Given the description of an element on the screen output the (x, y) to click on. 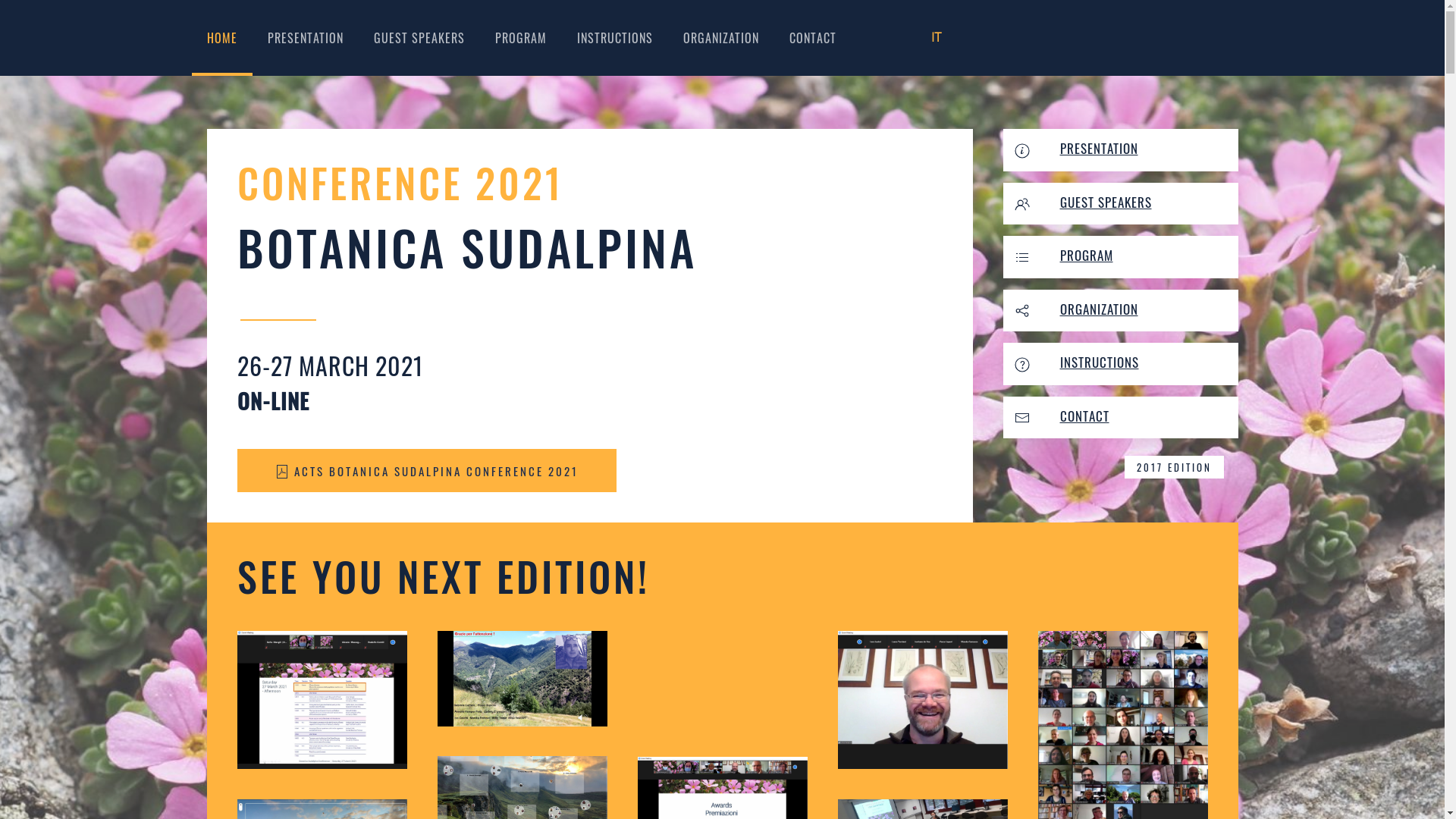
PROGRAM Element type: text (1086, 254)
ACTS BOTANICA SUDALPINA CONFERENCE 2021 Element type: text (425, 470)
PROGRAM Element type: text (520, 37)
ORGANIZATION Element type: text (1099, 307)
ORGANIZATION Element type: text (720, 37)
2017 EDITION Element type: text (1173, 466)
INSTRUCTIONS Element type: text (1099, 361)
GUEST SPEAKERS Element type: text (1105, 201)
PRESENTATION Element type: text (304, 37)
HOME Element type: text (221, 37)
CONTACT Element type: text (811, 37)
CONTACT Element type: text (1084, 415)
PRESENTATION Element type: text (1099, 147)
GUEST SPEAKERS Element type: text (418, 37)
IT Element type: text (936, 37)
INSTRUCTIONS Element type: text (614, 37)
